Given the description of an element on the screen output the (x, y) to click on. 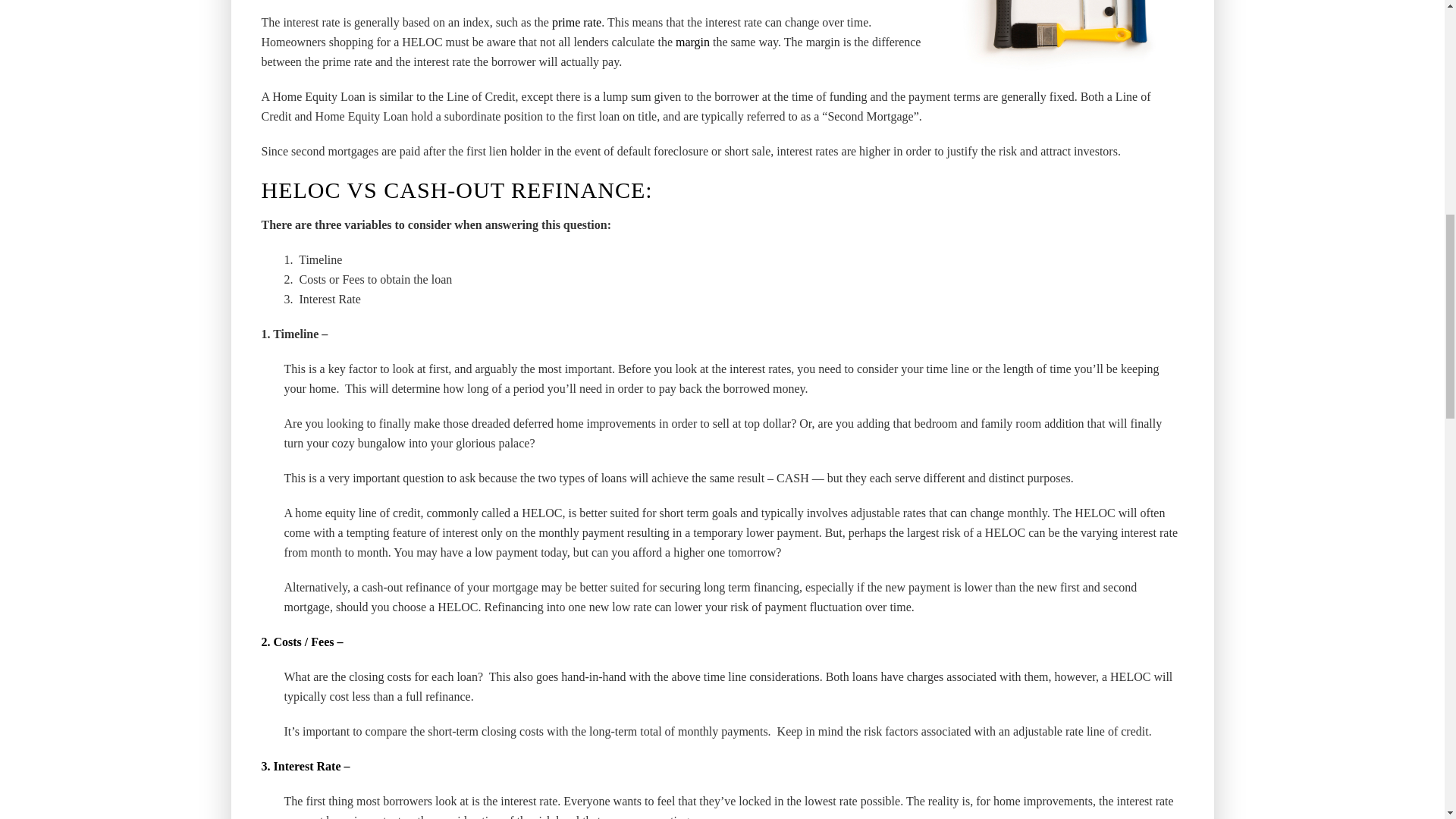
Prime rate (576, 22)
Margin (692, 42)
